Given the description of an element on the screen output the (x, y) to click on. 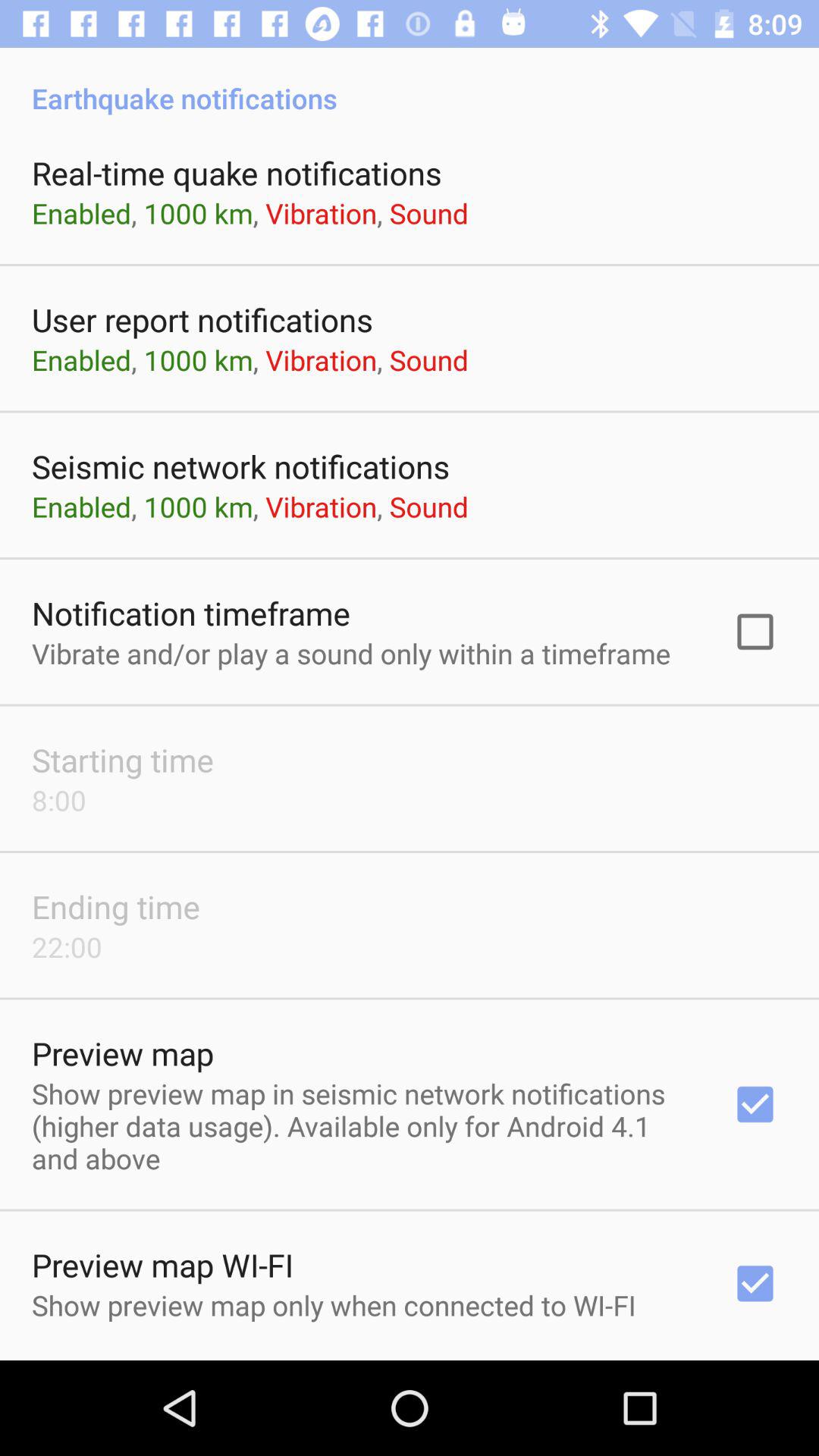
click app below the show preview map item (409, 1359)
